Given the description of an element on the screen output the (x, y) to click on. 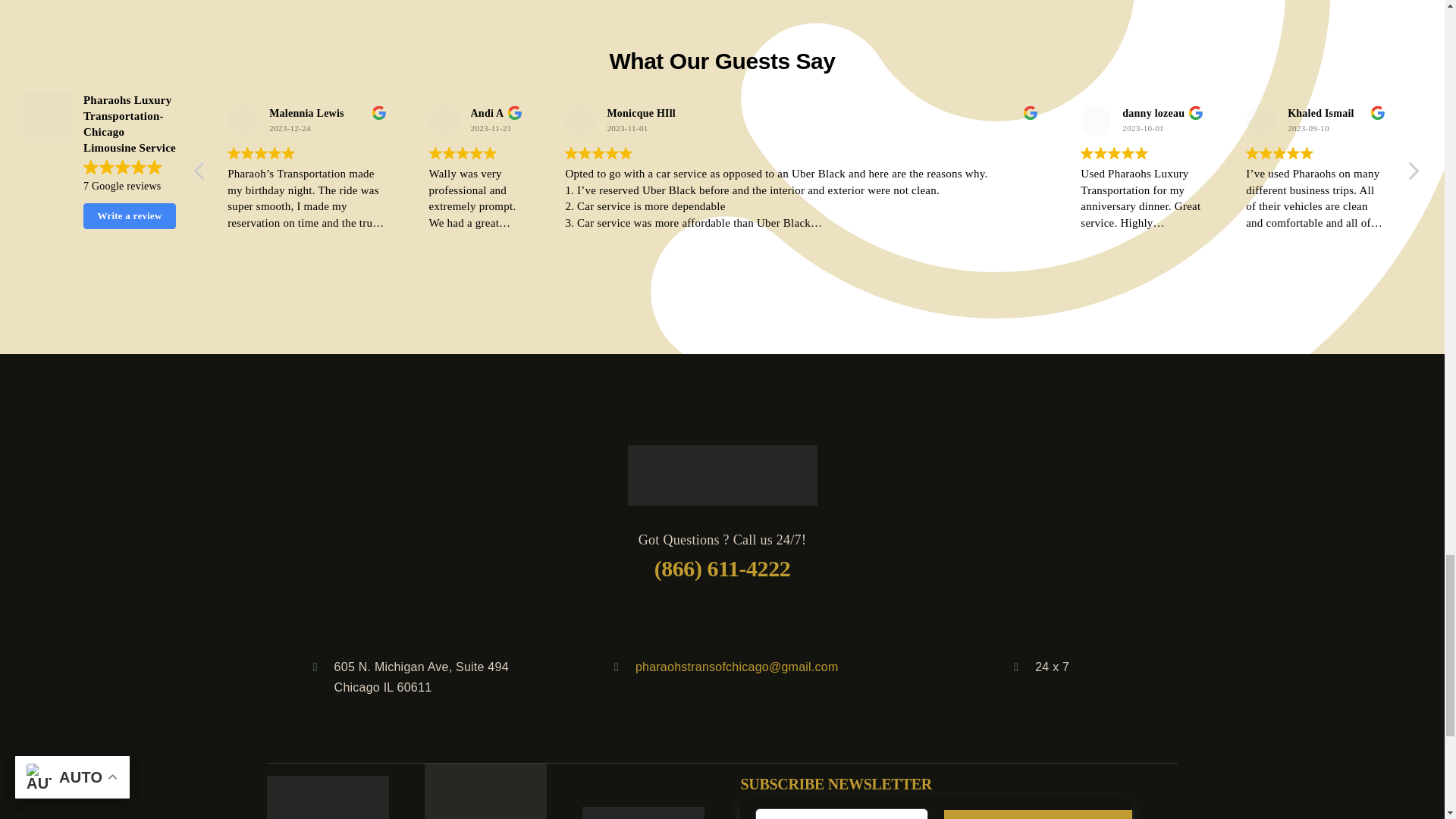
ILLBA (485, 791)
Stay updated (935, 807)
